Given the description of an element on the screen output the (x, y) to click on. 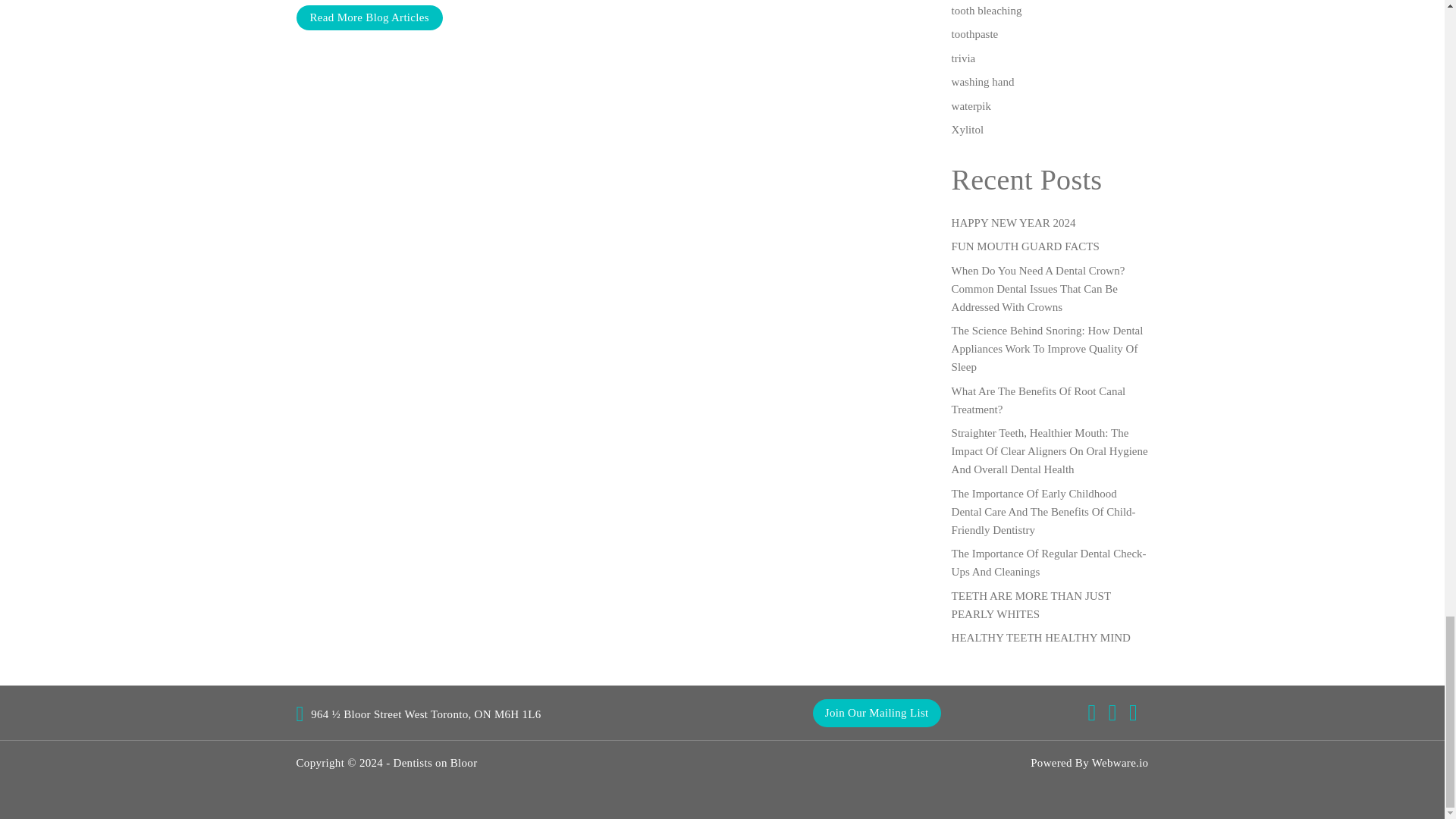
Read More Blog Articles (369, 17)
